Given the description of an element on the screen output the (x, y) to click on. 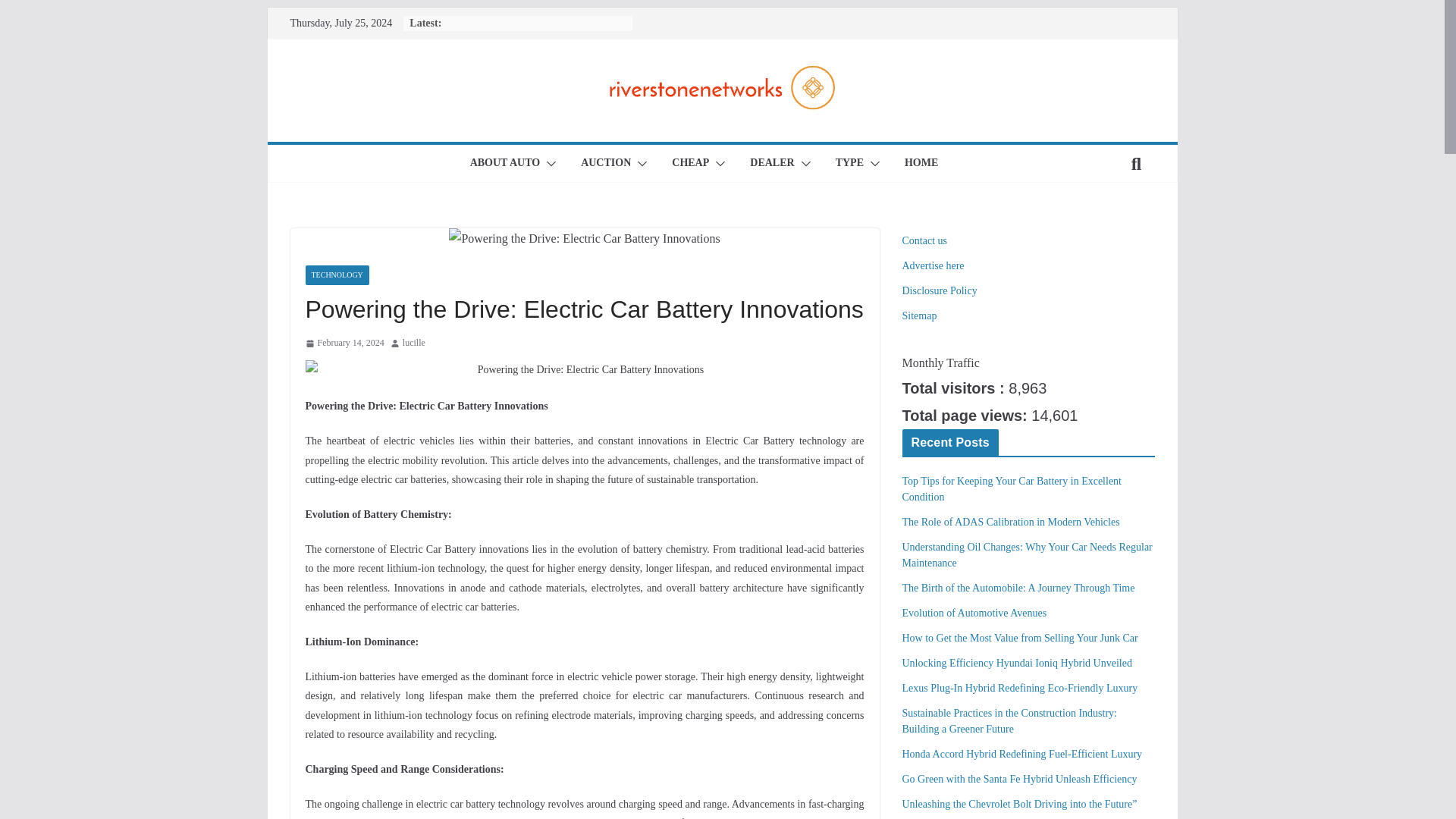
HOME (920, 163)
February 14, 2024 (344, 343)
lucille (414, 343)
5:14 am (344, 343)
Powering the Drive: Electric Car Battery Innovations (583, 239)
TYPE (849, 163)
lucille (414, 343)
TECHNOLOGY (336, 275)
DEALER (771, 163)
ABOUT AUTO (505, 163)
Powering the Drive: Electric Car Battery Innovations (583, 369)
CHEAP (690, 163)
AUCTION (605, 163)
